Given the description of an element on the screen output the (x, y) to click on. 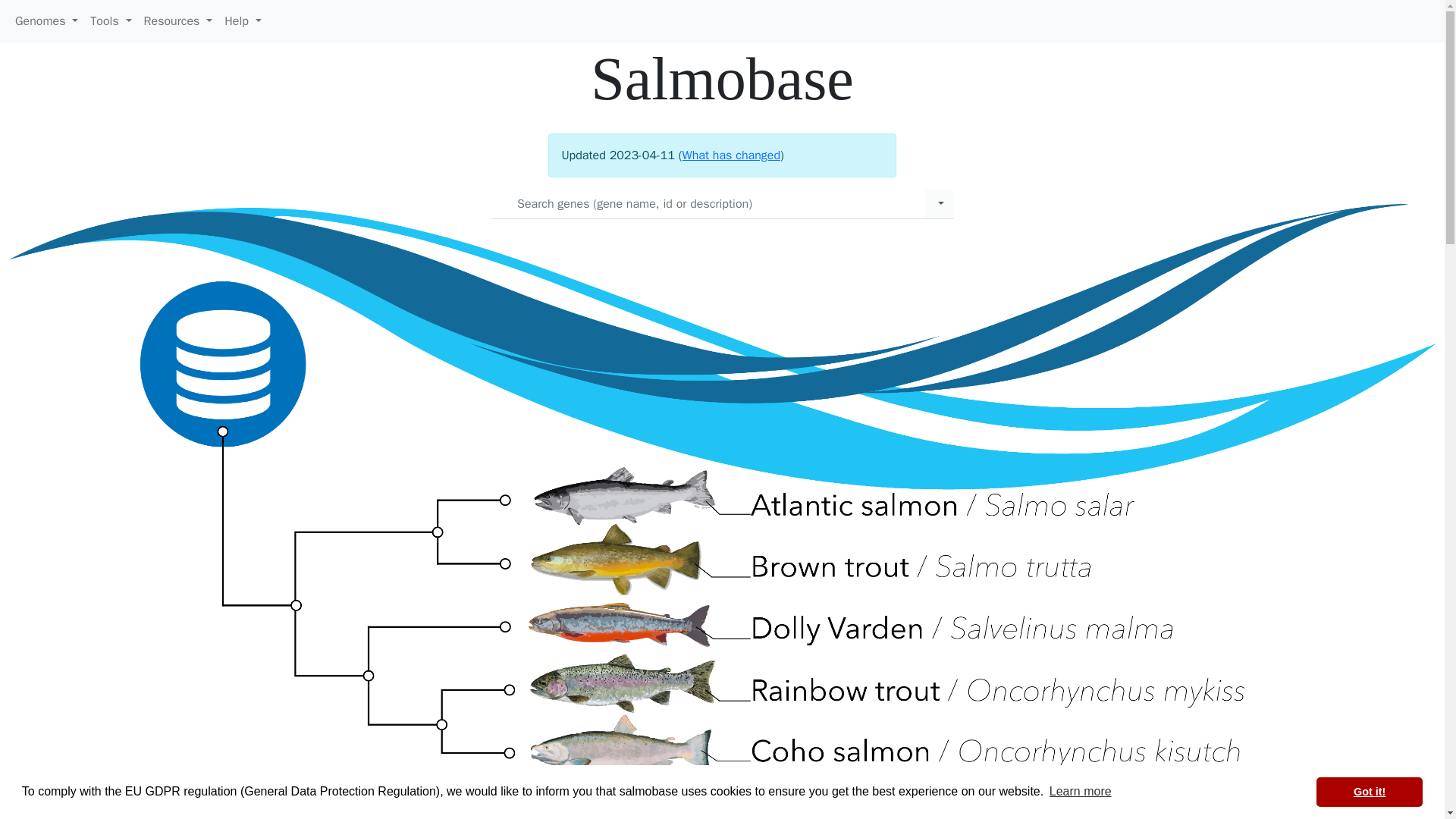
Learn more (1079, 791)
Help (242, 20)
Got it! (1369, 791)
What has changed (731, 155)
Tools (110, 20)
Resources (178, 20)
Genomes (46, 20)
